Given the description of an element on the screen output the (x, y) to click on. 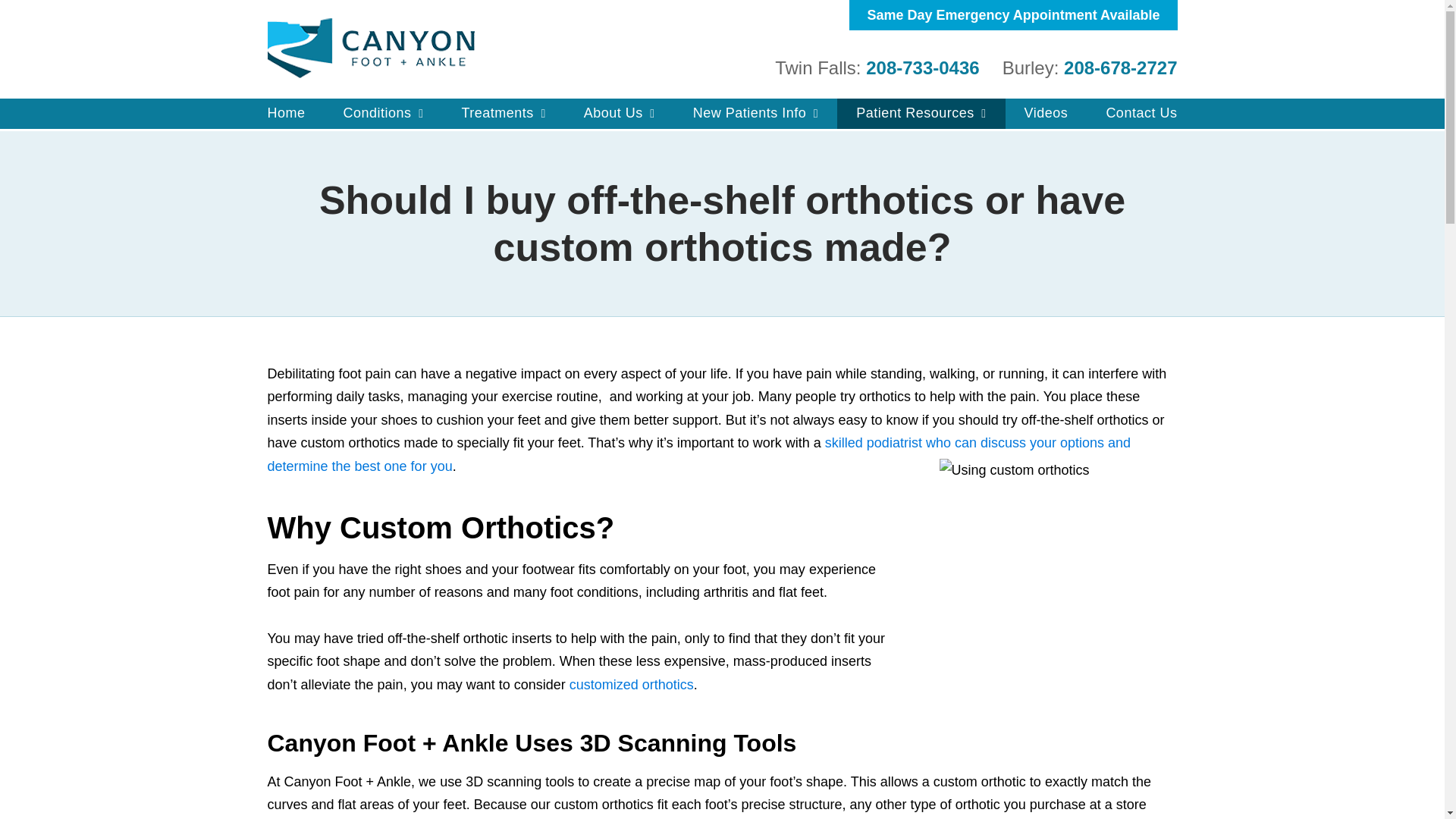
Treatments (503, 113)
Home (286, 112)
New Patients Info (755, 113)
Conditions (383, 113)
About Us (619, 113)
Same Day Emergency Appointment Available (1012, 15)
Patient Resources (920, 113)
